Given the description of an element on the screen output the (x, y) to click on. 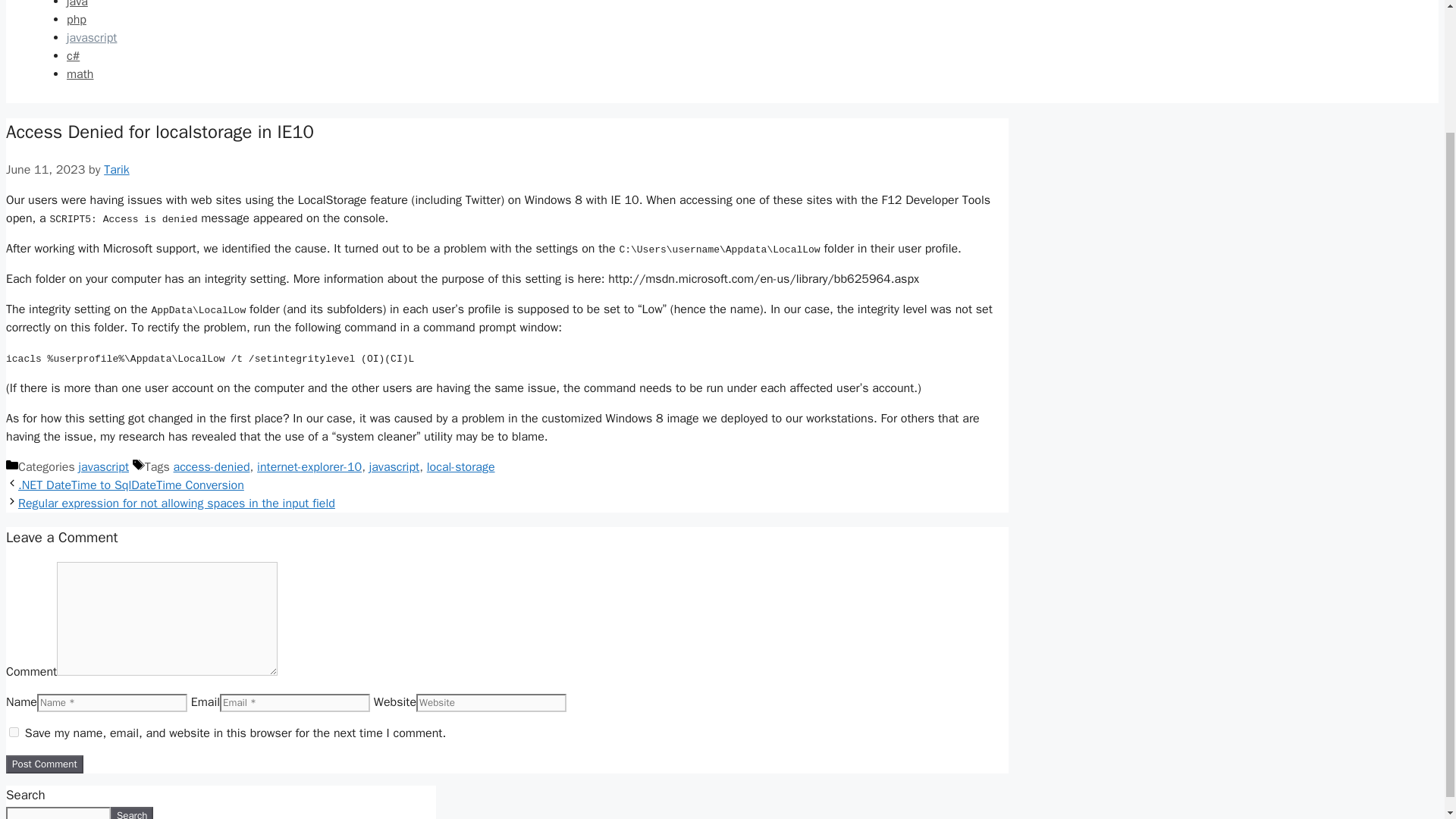
local-storage (460, 467)
yes (13, 732)
Post Comment (43, 764)
.NET DateTime to SqlDateTime Conversion (130, 485)
Post Comment (43, 764)
math (79, 73)
javascript (91, 37)
access-denied (211, 467)
java (76, 4)
View all posts by Tarik (116, 169)
internet-explorer-10 (309, 467)
php (75, 19)
javascript (103, 467)
Tarik (116, 169)
